Given the description of an element on the screen output the (x, y) to click on. 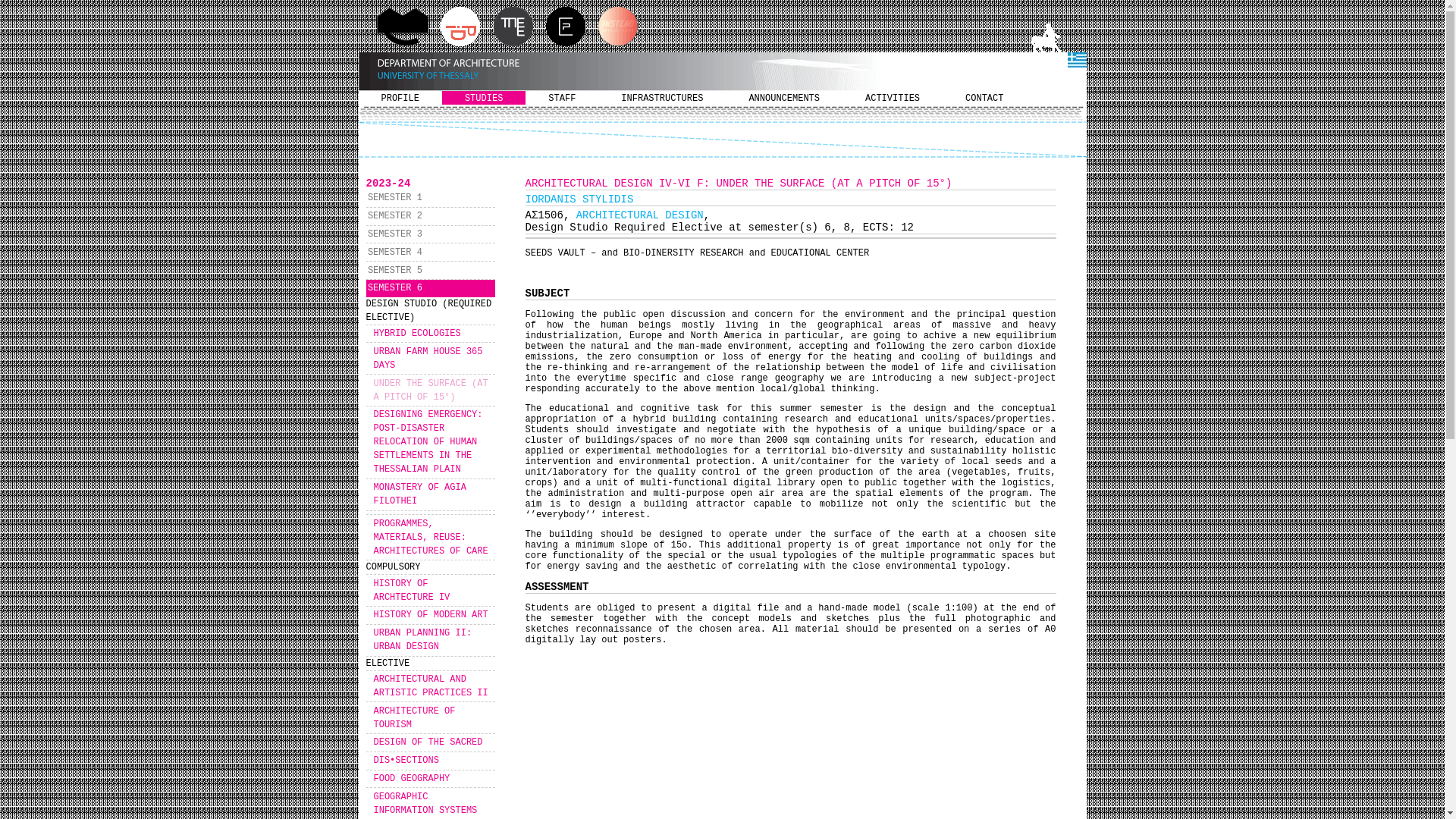
ANNOUNCEMENTS (784, 97)
SEMESTER 1 (430, 198)
STAFF (561, 97)
ACTIVITIES (892, 97)
SEMESTER 2 (430, 216)
CONTACT (984, 97)
STUDIES (483, 97)
PROFILE (399, 97)
INFRASTRUCTURES (661, 97)
